Given the description of an element on the screen output the (x, y) to click on. 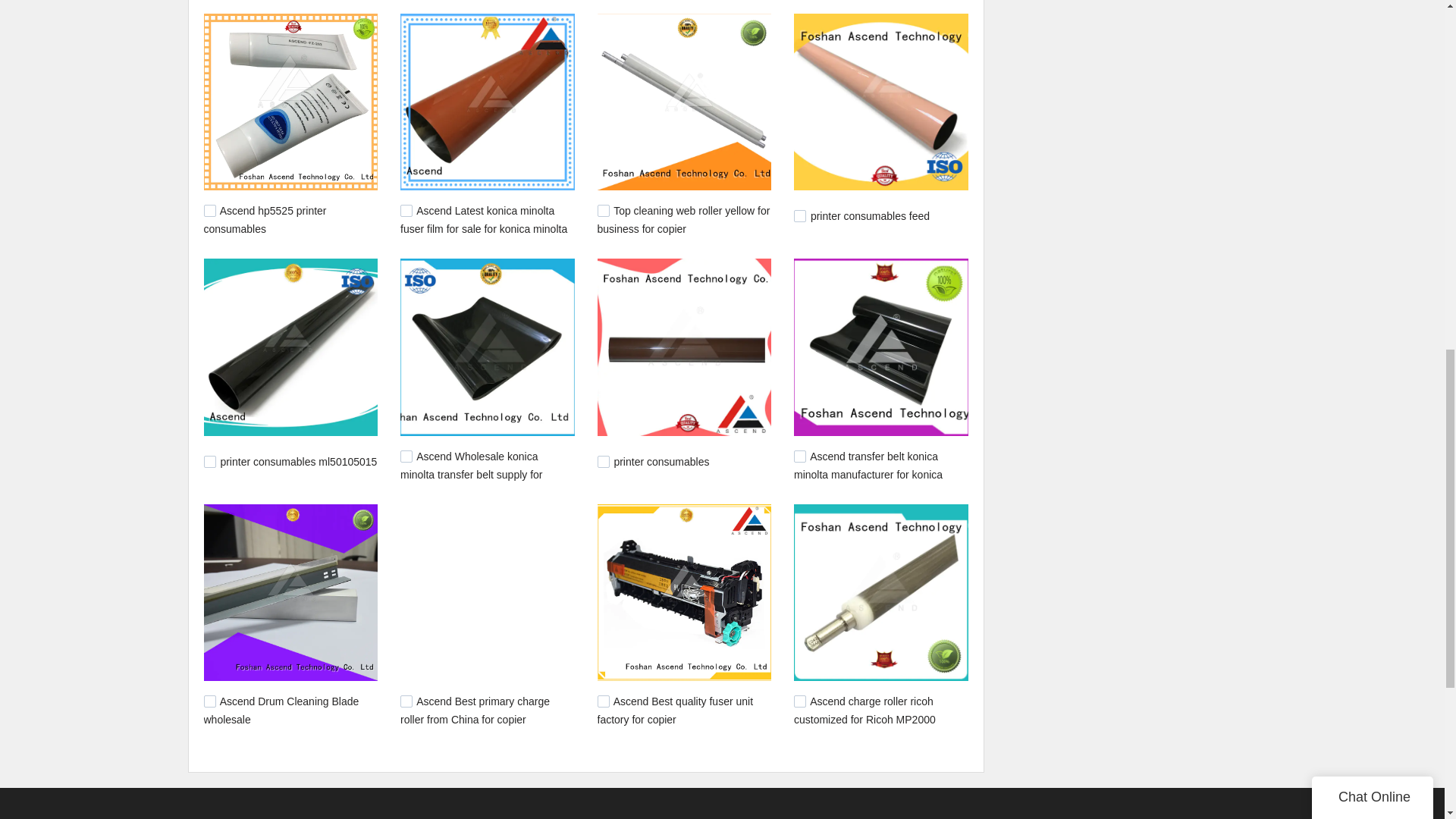
1345 (209, 210)
Ascend Drum Cleaning Blade wholesale (280, 710)
Ascend hp5525 printer consumables (264, 219)
Ascend Best quality fuser unit factory for copier (675, 710)
Top cleaning web roller yellow for business for copier (683, 219)
1341 (406, 210)
printer consumables (660, 461)
1085 (799, 456)
printer consumables feed (870, 215)
1024 (603, 701)
1079 (209, 701)
1129 (406, 456)
1233 (603, 210)
